Given the description of an element on the screen output the (x, y) to click on. 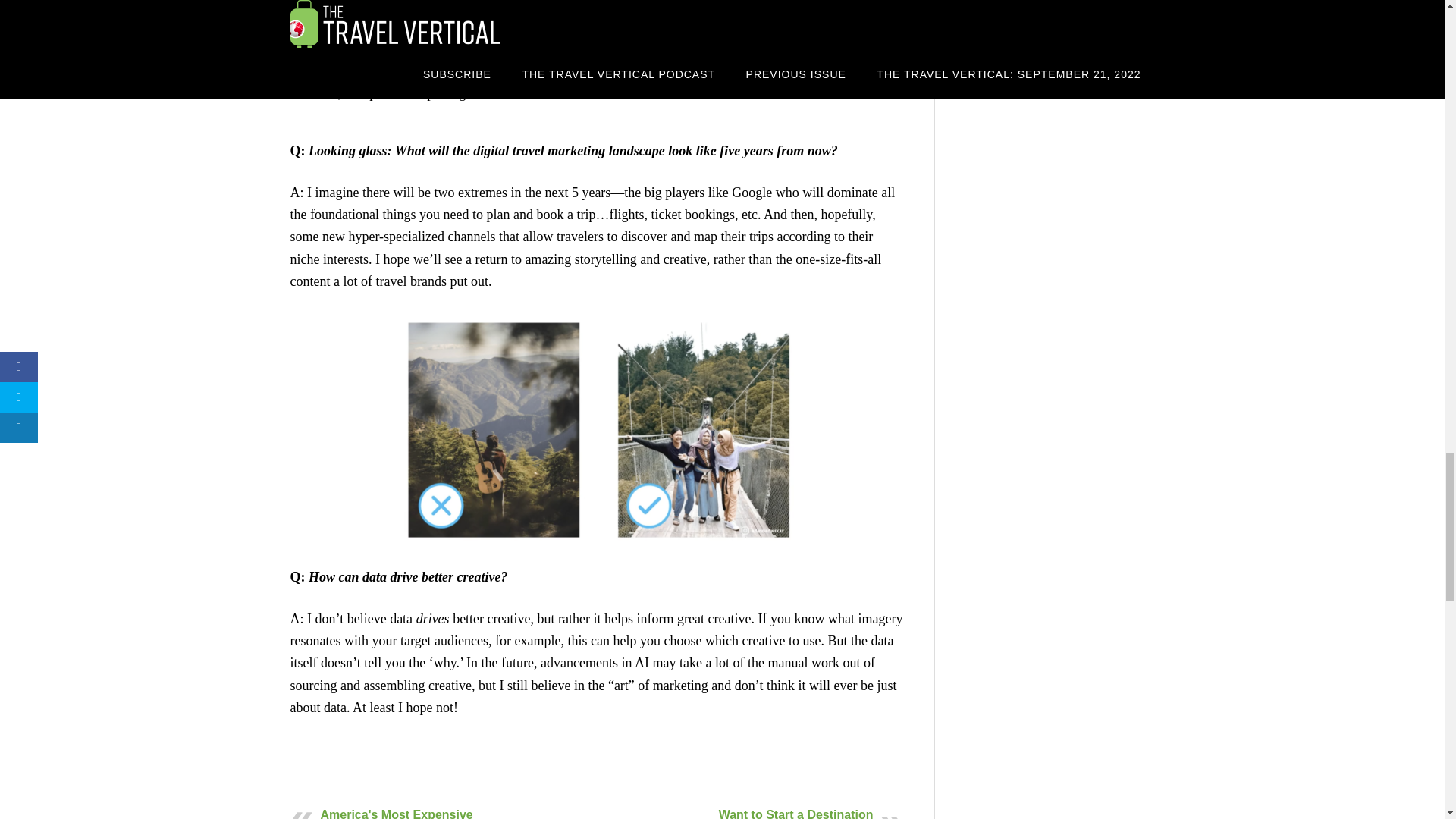
America's Most Expensive Zip Codes (395, 813)
Want to Start a Destination Podcast in 2020? Begin Here... (796, 813)
